Given the description of an element on the screen output the (x, y) to click on. 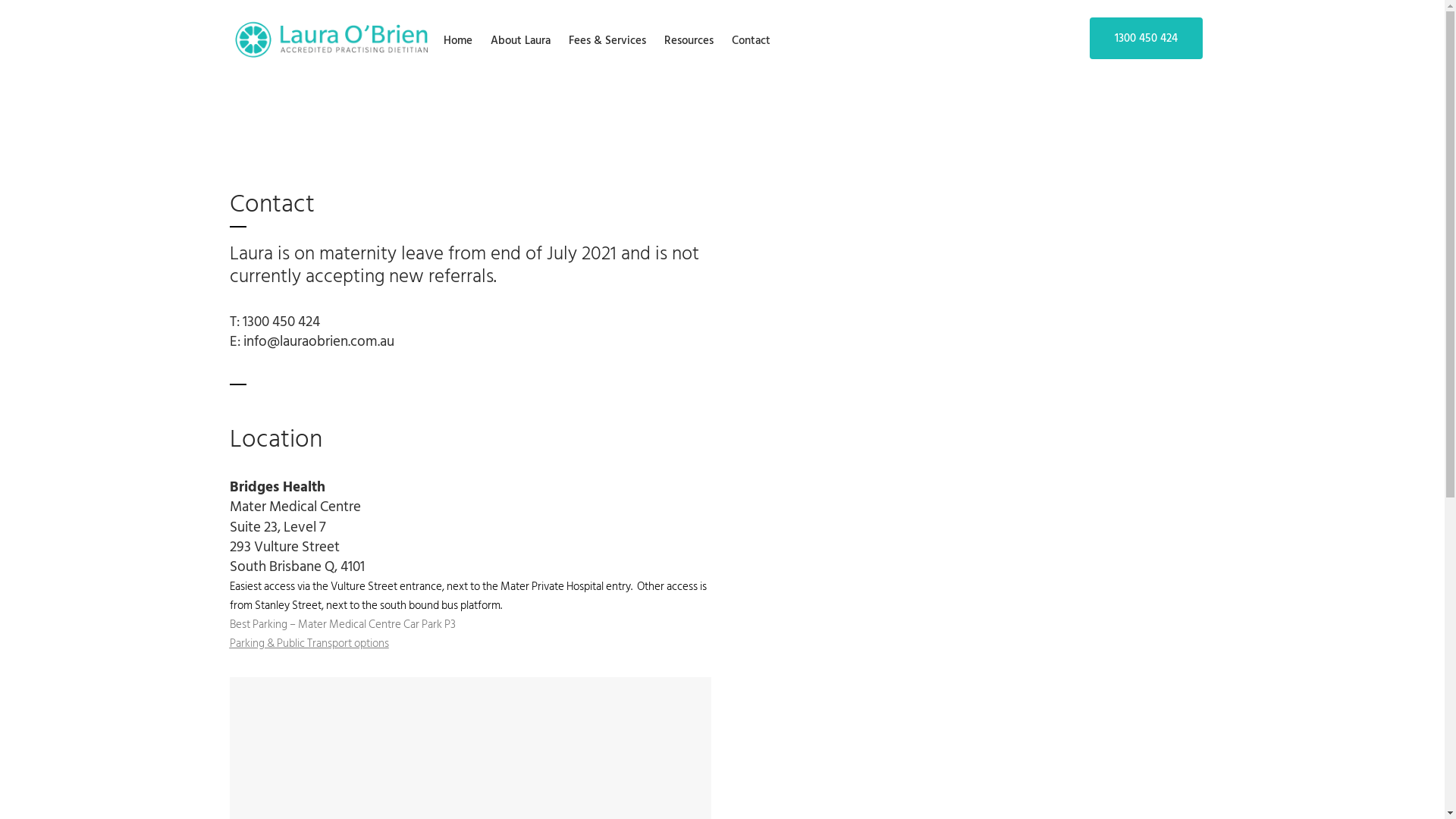
Contact Element type: text (749, 40)
1300 450 424 Element type: text (281, 321)
1300 450 424 Element type: text (1144, 37)
Fees & Services Element type: text (607, 40)
info@lauraobrien.com.au Element type: text (317, 341)
Bridges Health Element type: text (276, 486)
Parking & Public Transport options Element type: text (308, 642)
Home Element type: text (456, 40)
Resources Element type: text (688, 40)
About Laura Element type: text (519, 40)
